Given the description of an element on the screen output the (x, y) to click on. 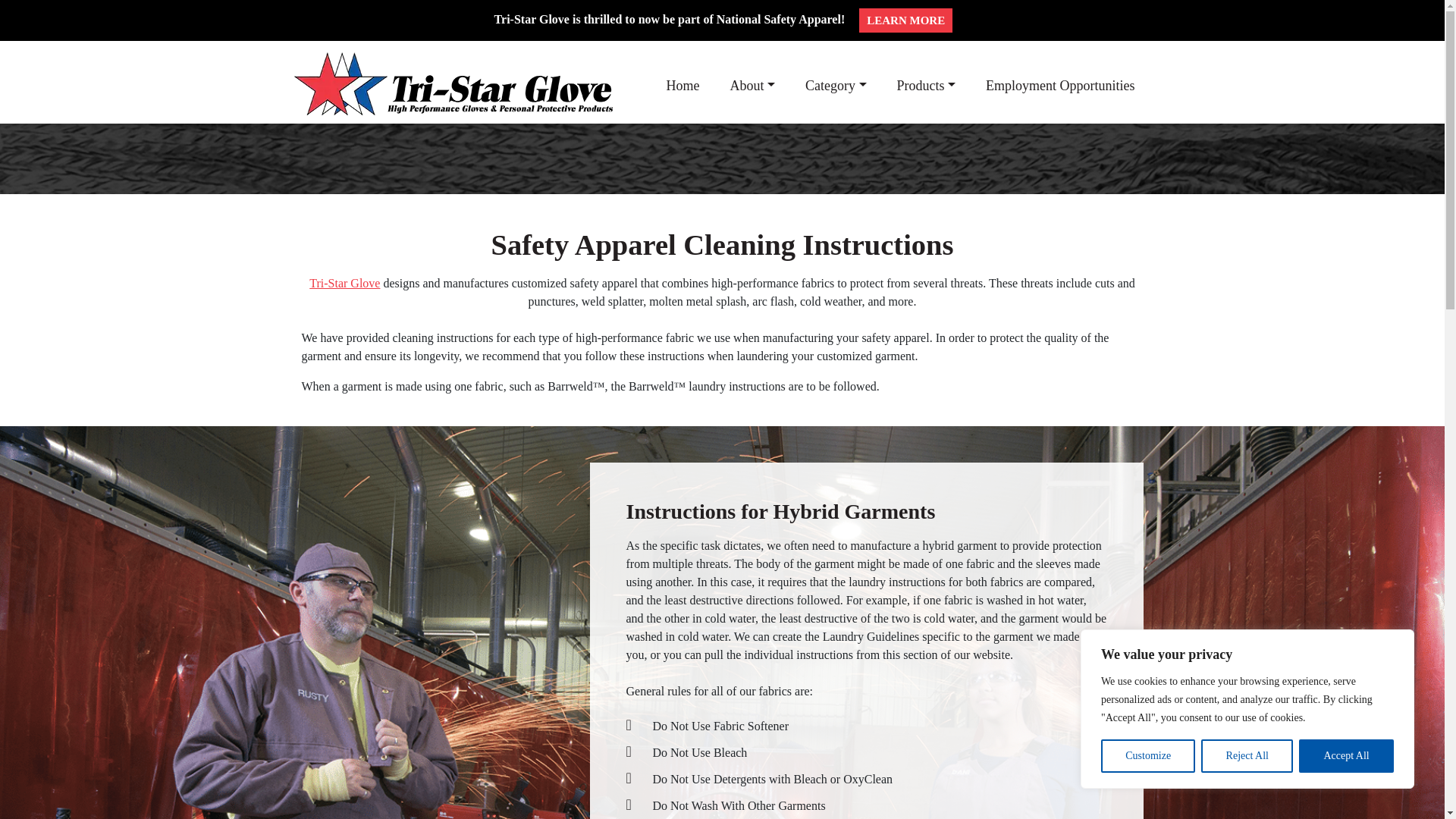
Category (836, 85)
Home (682, 85)
Reject All (1246, 756)
Customize (1147, 756)
Products (926, 85)
Accept All (1345, 756)
LEARN MORE (905, 20)
About (752, 85)
